Given the description of an element on the screen output the (x, y) to click on. 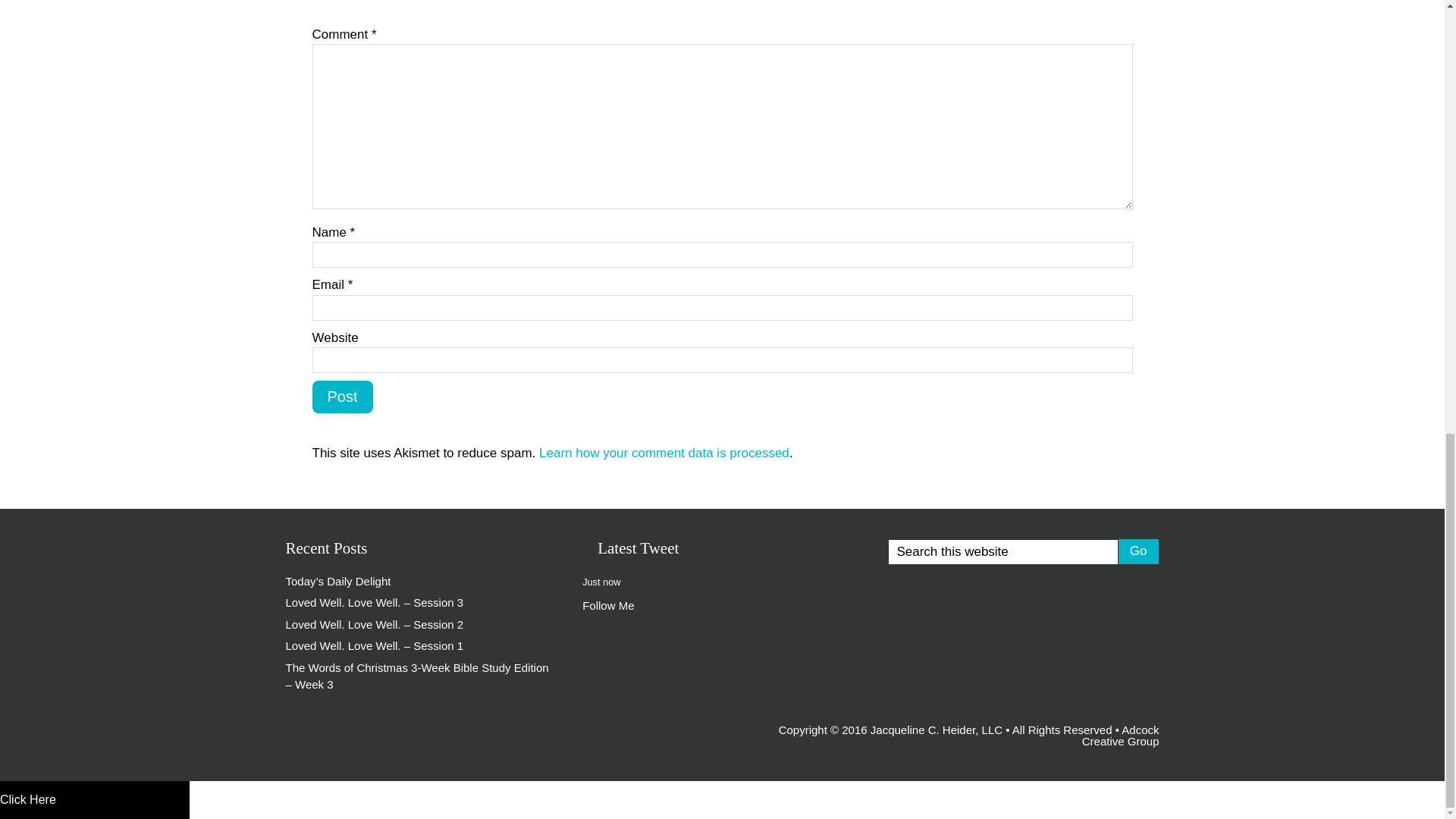
Go (1138, 551)
Post (342, 396)
Go (1138, 551)
Learn how your comment data is processed (663, 452)
Post (342, 396)
Adcock Creative Group (1119, 735)
Go (1138, 551)
Just now (601, 581)
Follow Me (607, 604)
